Given the description of an element on the screen output the (x, y) to click on. 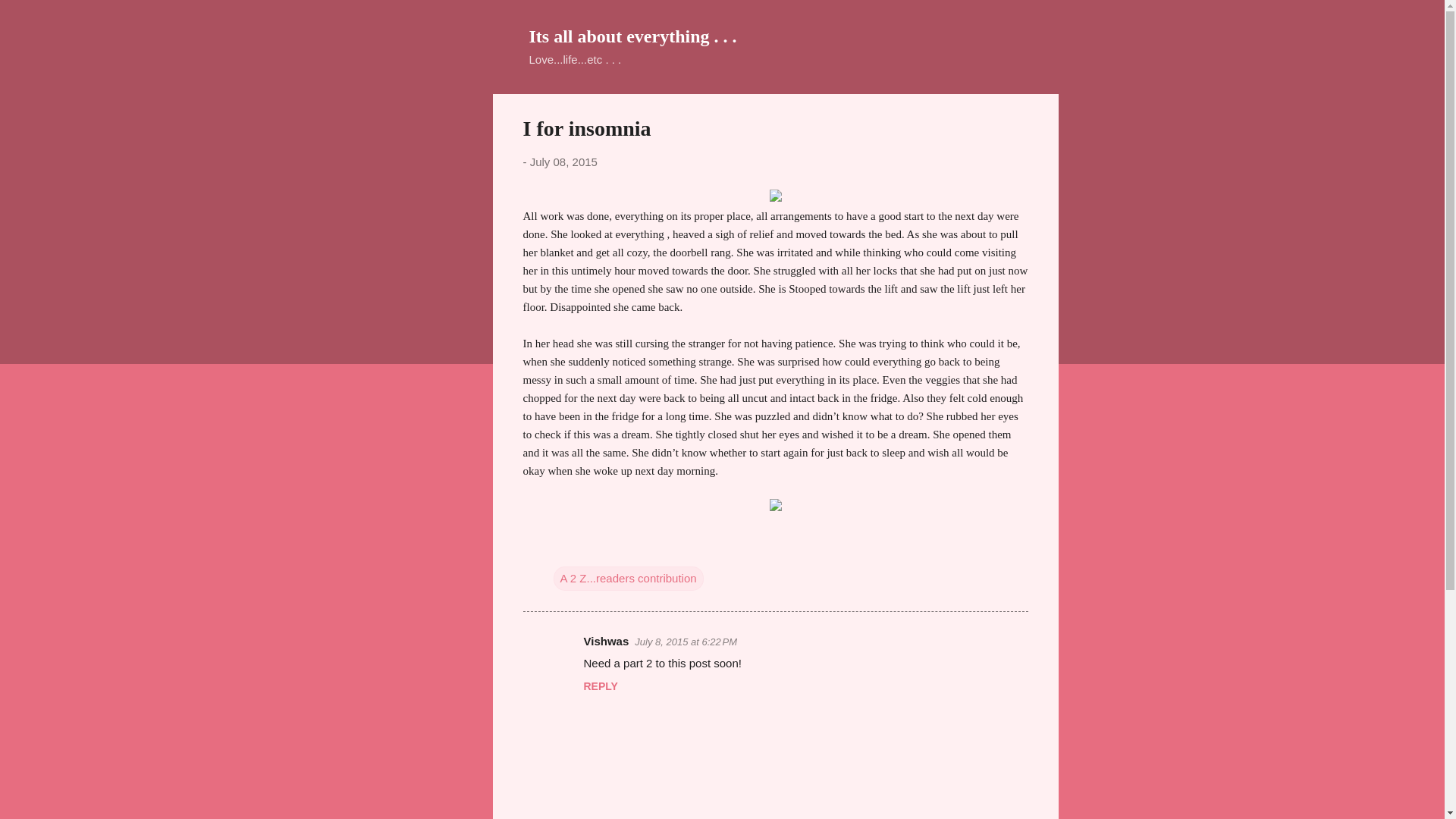
REPLY (600, 686)
A 2 Z...readers contribution (628, 577)
July 08, 2015 (562, 161)
Search (29, 18)
Vishwas (605, 640)
permanent link (562, 161)
Its all about everything . . . (632, 35)
